Given the description of an element on the screen output the (x, y) to click on. 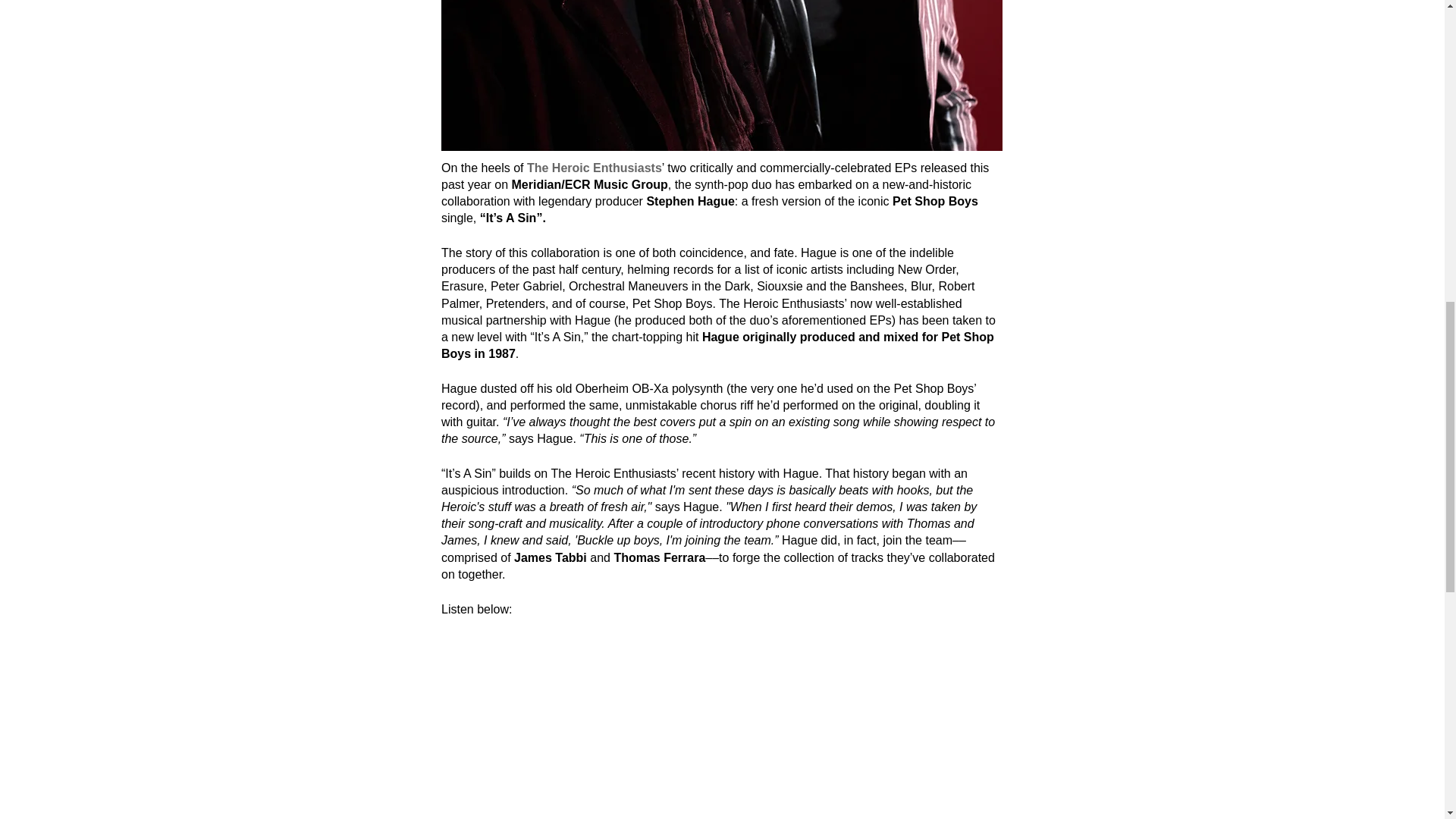
The Heroic Enthusiasts (593, 167)
